Given the description of an element on the screen output the (x, y) to click on. 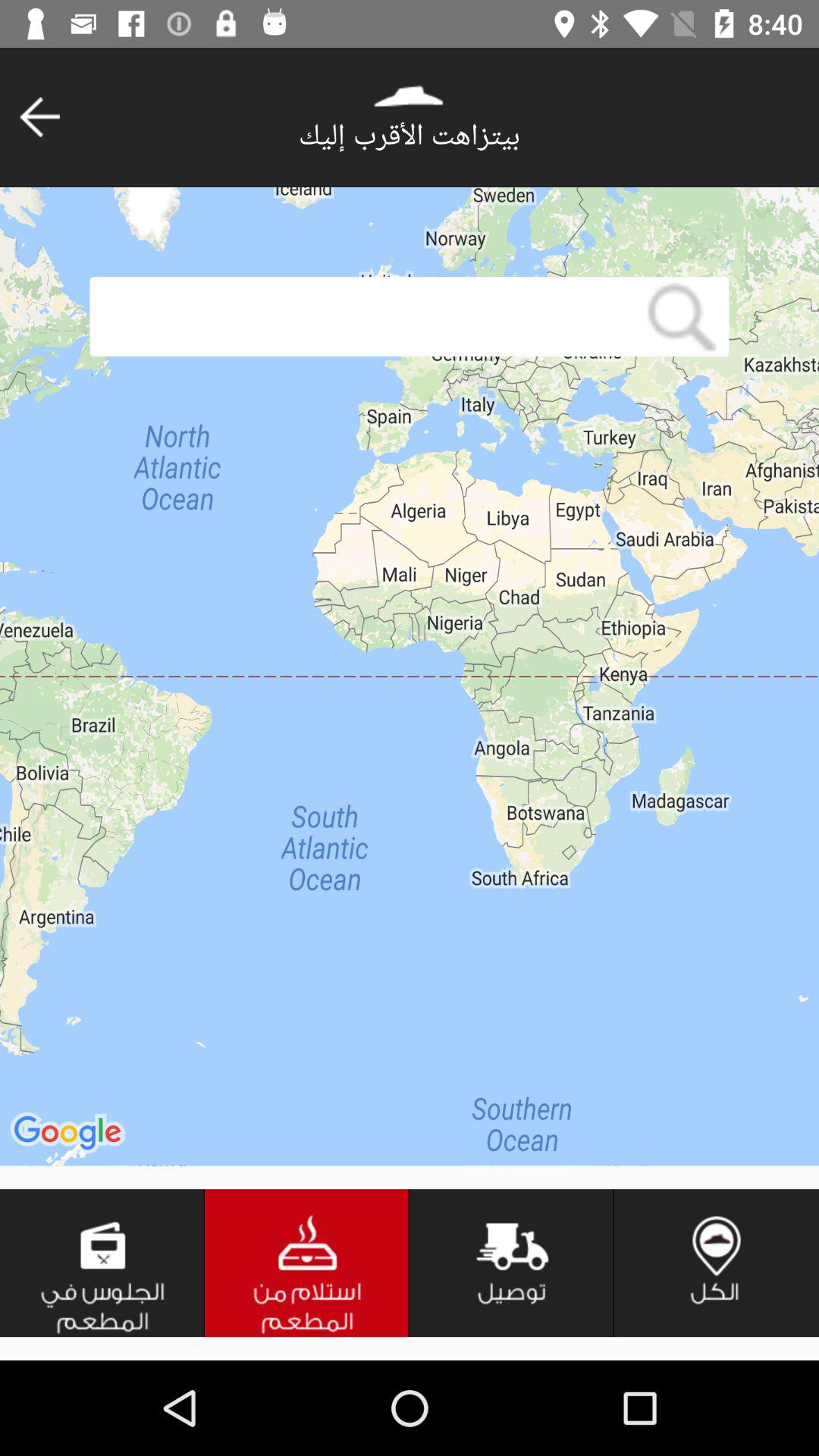
click icon at the bottom right corner (716, 1262)
